Given the description of an element on the screen output the (x, y) to click on. 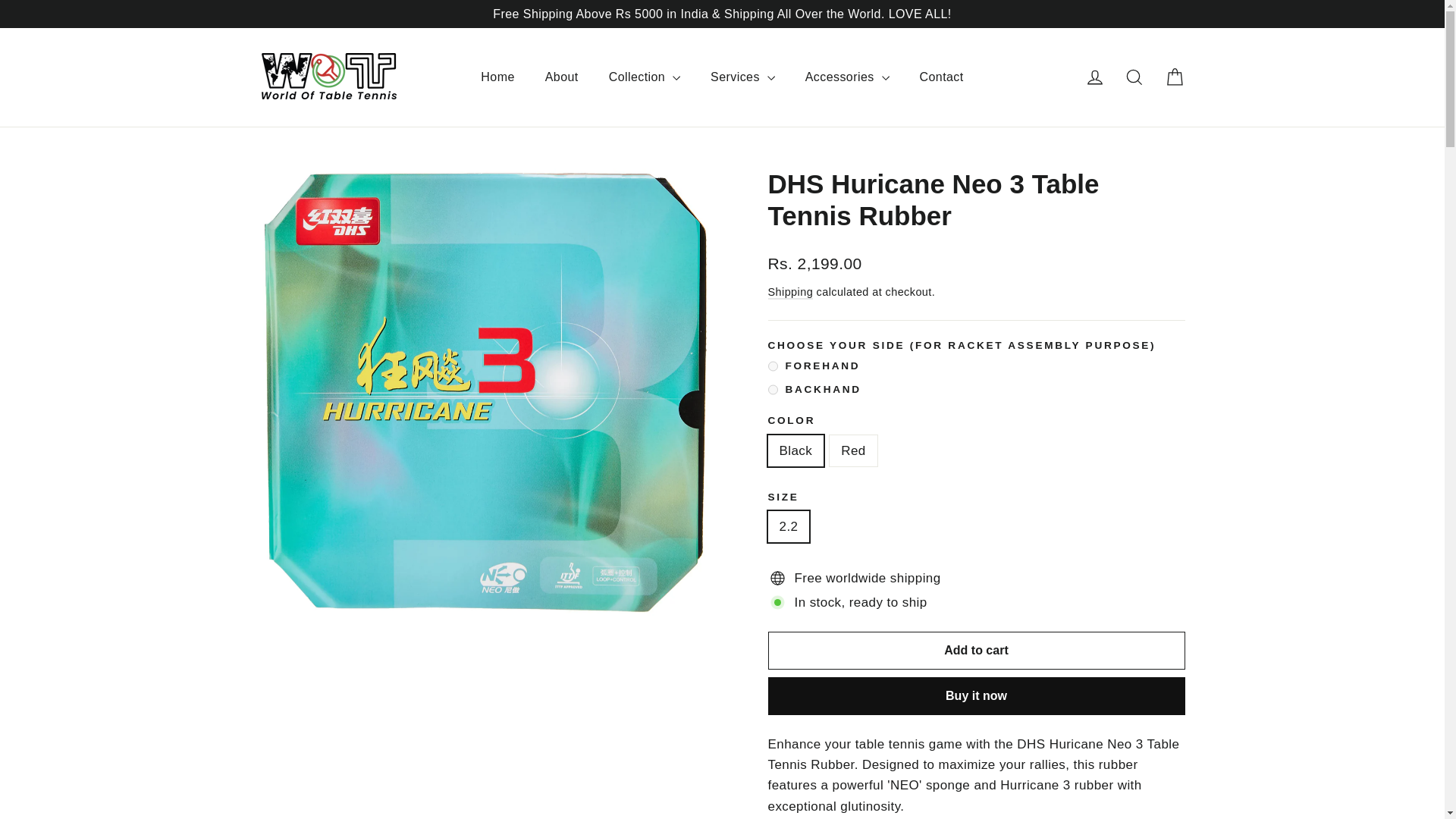
icon-search (1134, 76)
account (1094, 76)
